Given the description of an element on the screen output the (x, y) to click on. 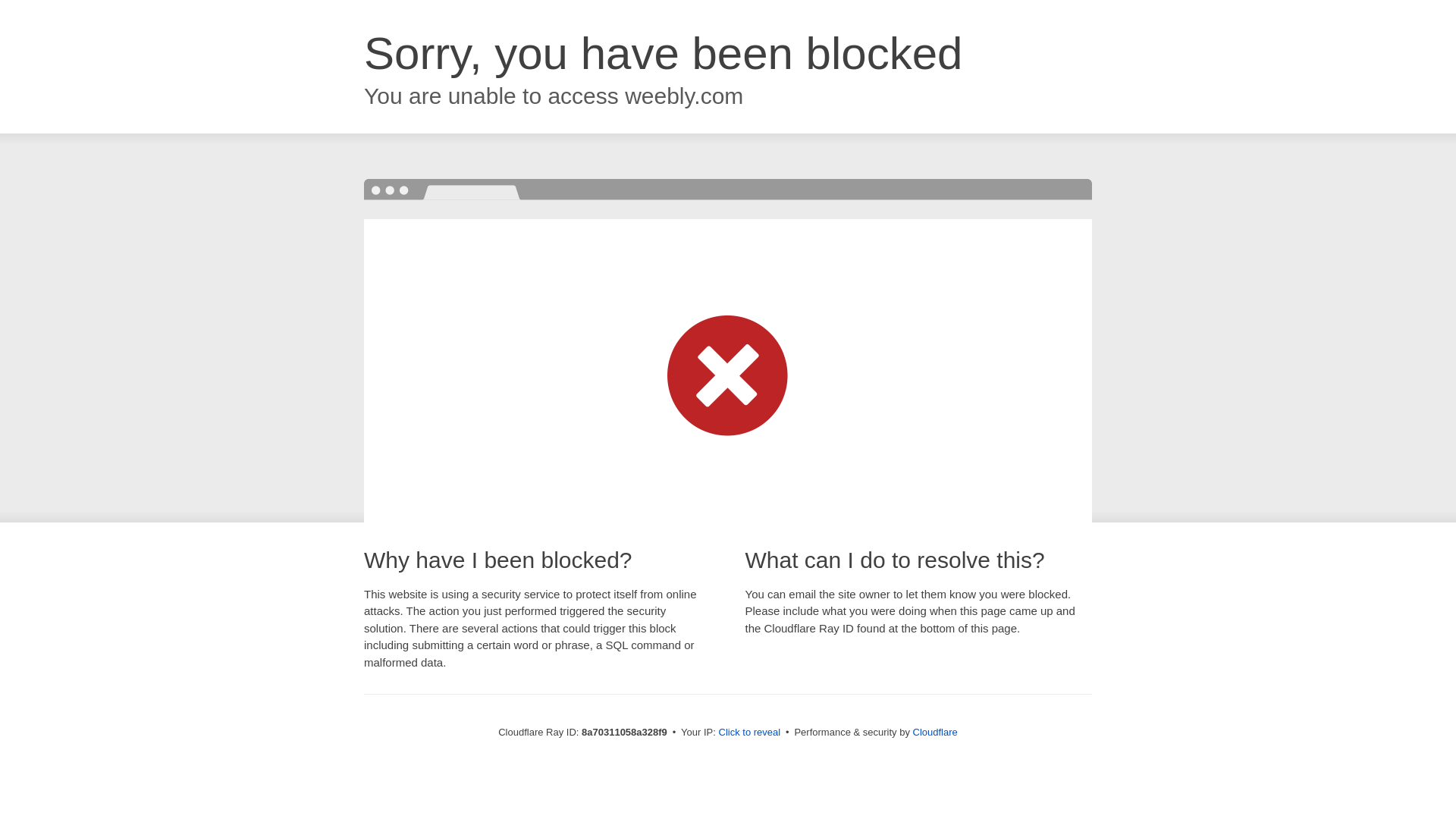
Click to reveal (749, 732)
Cloudflare (935, 731)
